Given the description of an element on the screen output the (x, y) to click on. 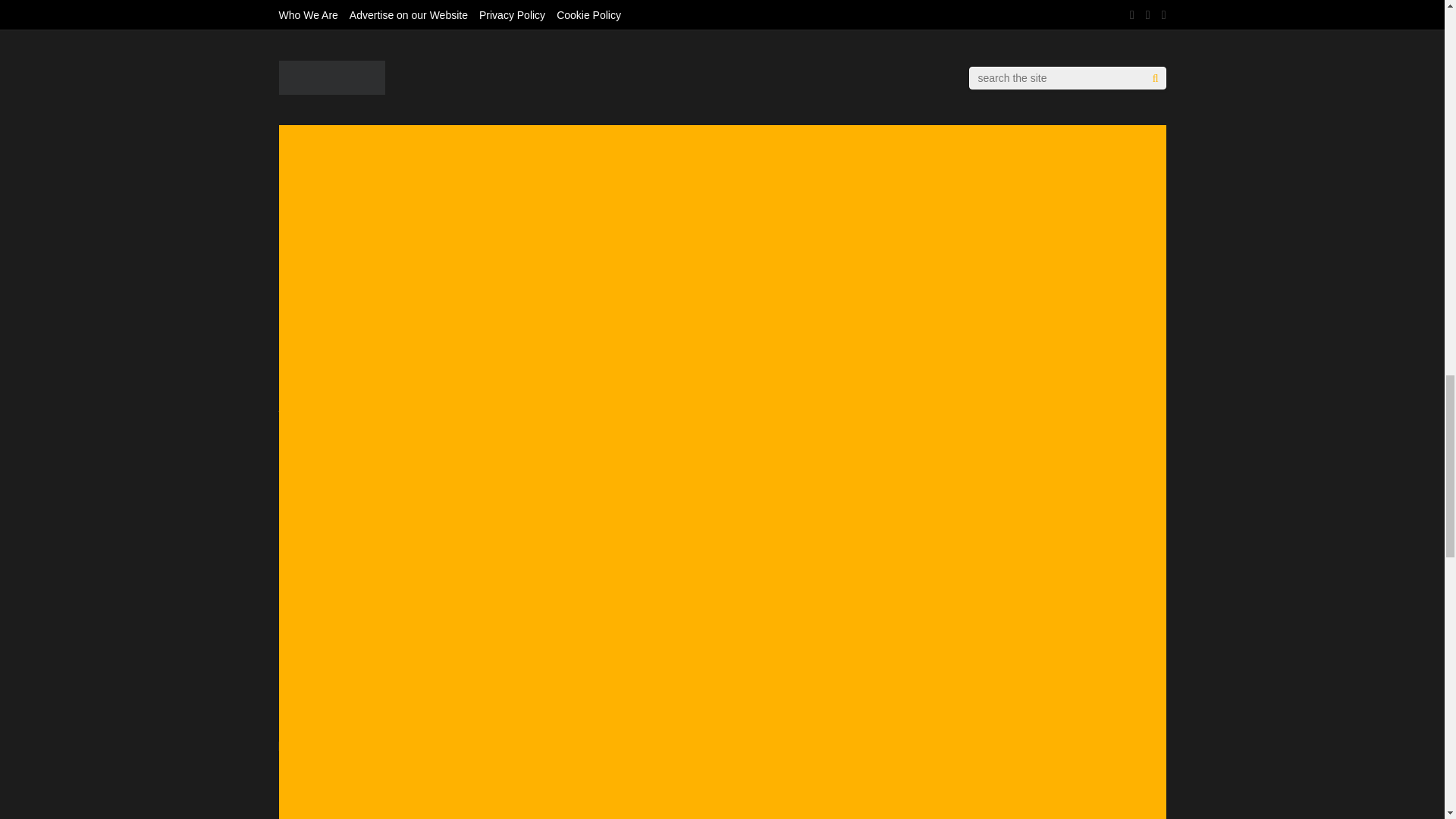
Kingdom Hearts III Now Available Worldwide (413, 726)
Kingdom Hearts III Now Available Worldwide (346, 712)
